Given the description of an element on the screen output the (x, y) to click on. 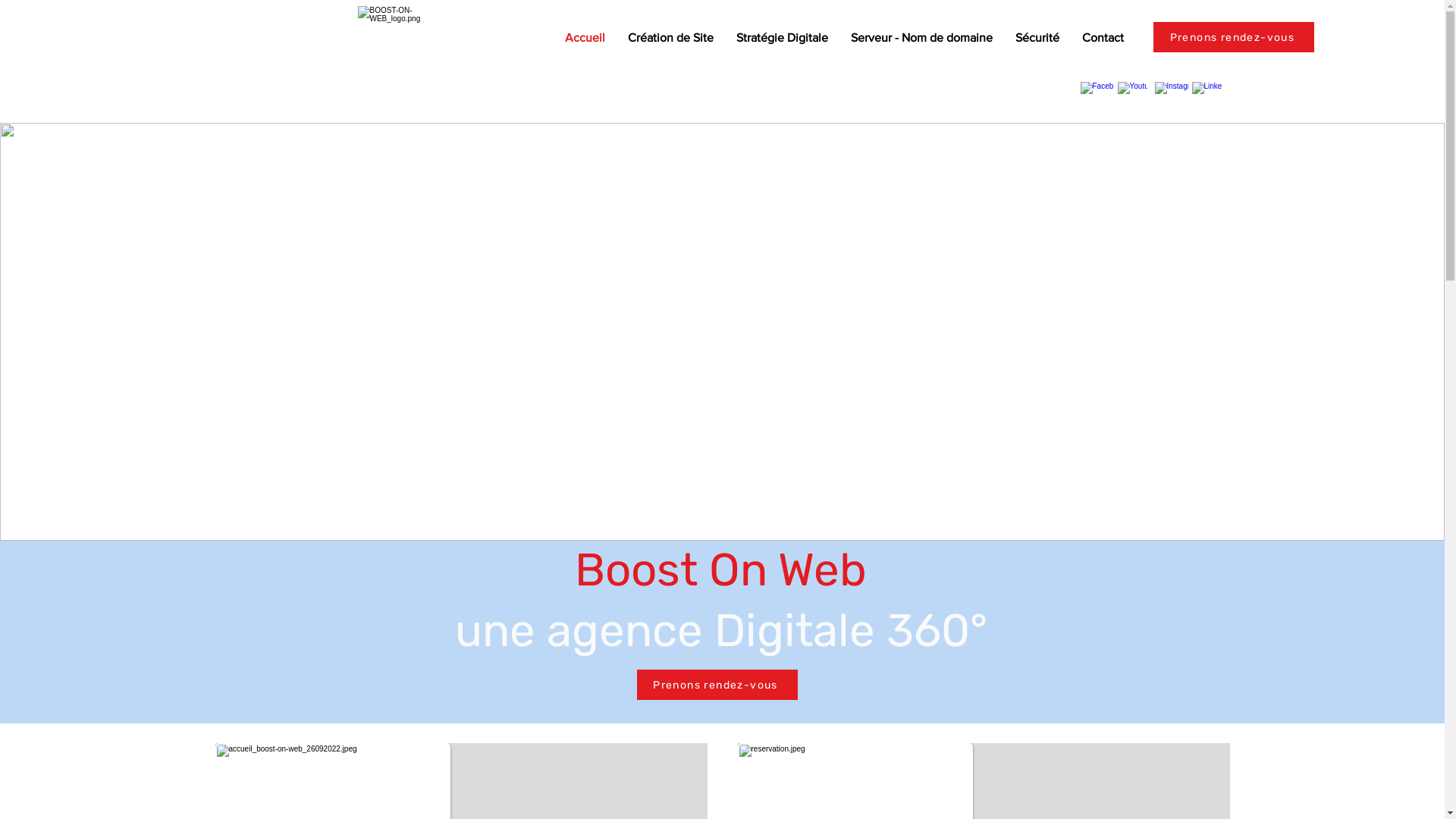
Prenons rendez-vous Element type: text (717, 684)
Accueil Element type: text (584, 37)
Prenons rendez-vous Element type: text (1233, 36)
